Given the description of an element on the screen output the (x, y) to click on. 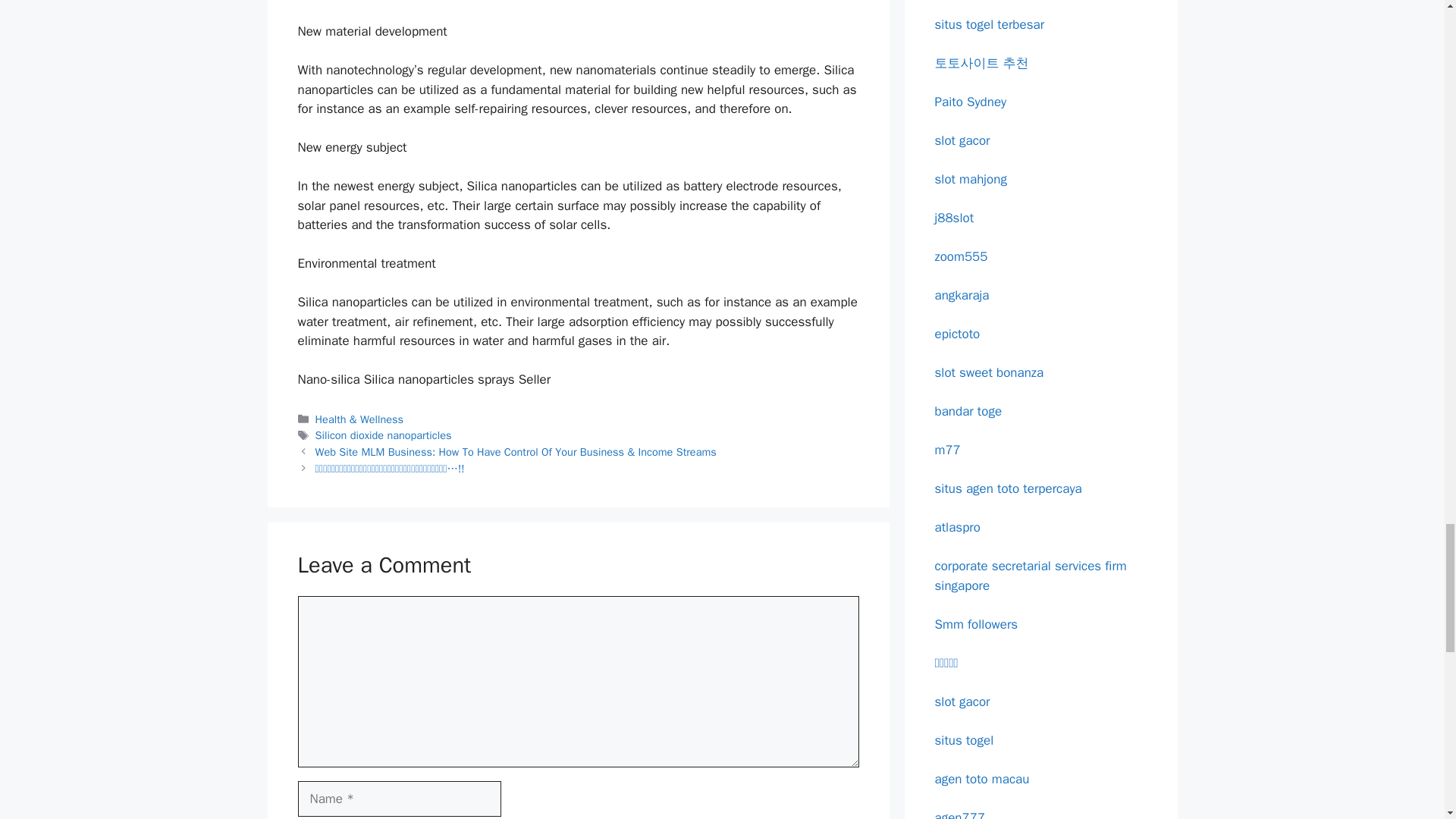
Silicon dioxide nanoparticles (383, 435)
